Given the description of an element on the screen output the (x, y) to click on. 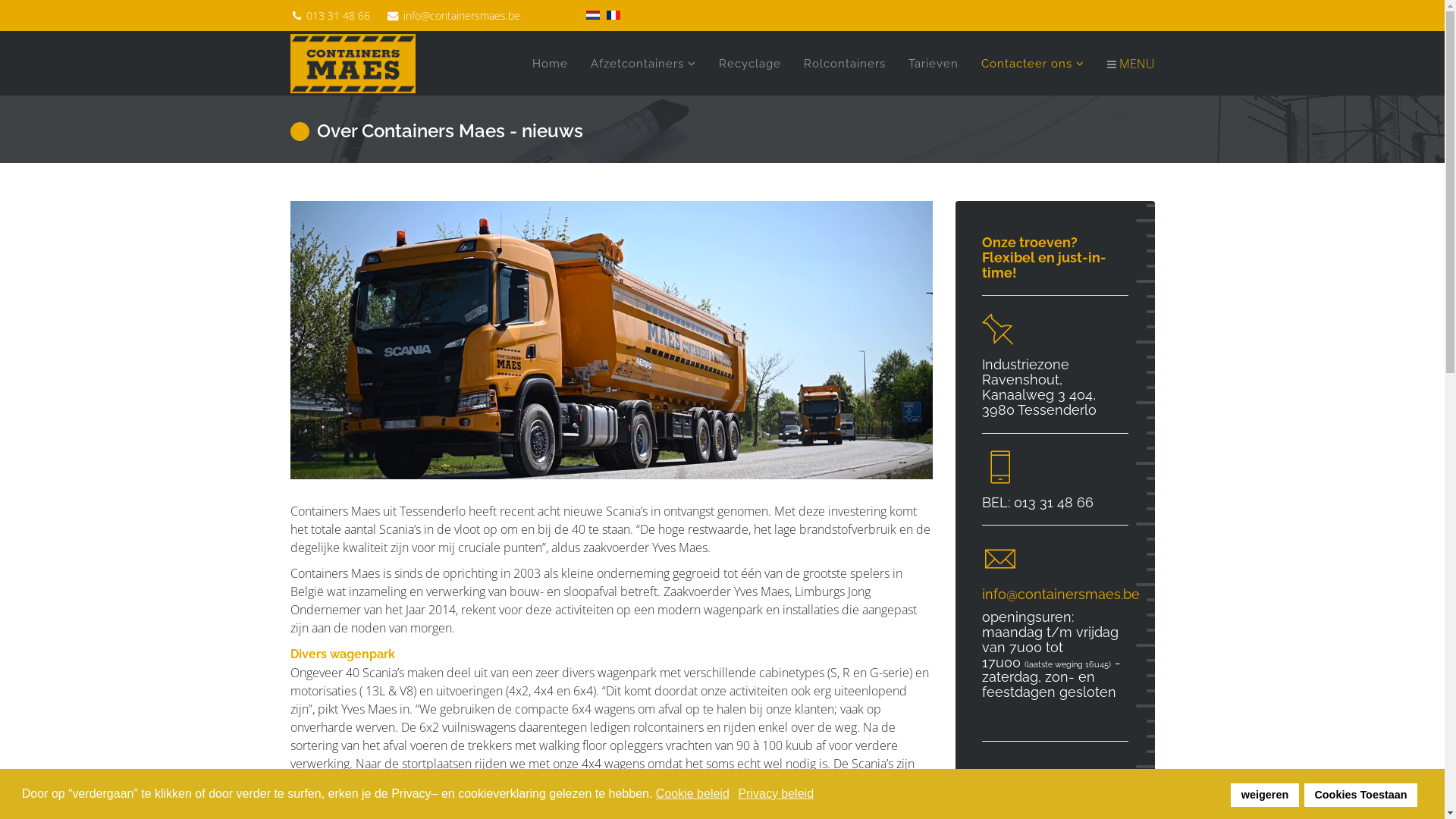
Nederlands Element type: hover (592, 14)
info@containersmaes.be Element type: text (1060, 594)
Privacy beleid Element type: text (776, 793)
Home Element type: text (549, 63)
MENU Element type: text (1124, 63)
Cookie beleid Element type: text (693, 793)
Recyclage Element type: text (748, 63)
Tarieven Element type: text (932, 63)
info@containersmaes.be Element type: text (461, 15)
Cookies Toestaan Element type: text (1360, 794)
weigeren Element type: text (1264, 794)
Rolcontainers Element type: text (843, 63)
Afzetcontainers Element type: text (643, 63)
Contacteer ons Element type: text (1032, 63)
